Given the description of an element on the screen output the (x, y) to click on. 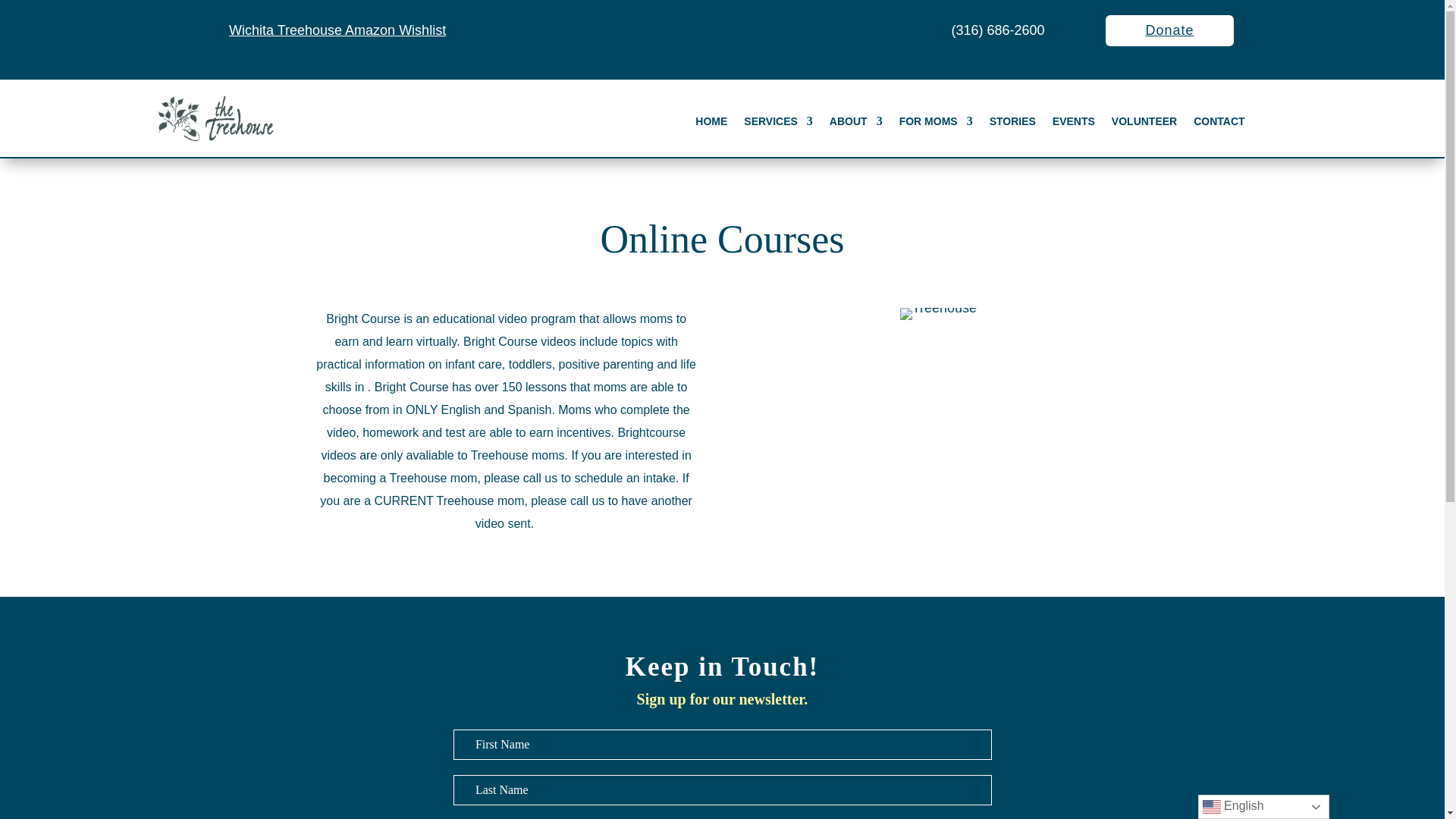
Donate (1169, 30)
EVENTS (1073, 124)
ABOUT (855, 124)
SERVICES (778, 124)
The Treehouse (214, 118)
CONTACT (1218, 124)
STORIES (1012, 124)
HOME (710, 124)
Wichita Treehouse Amazon Wishlist (336, 29)
VOLUNTEER (1144, 124)
Treehouse building (937, 313)
FOR MOMS (935, 124)
